Given the description of an element on the screen output the (x, y) to click on. 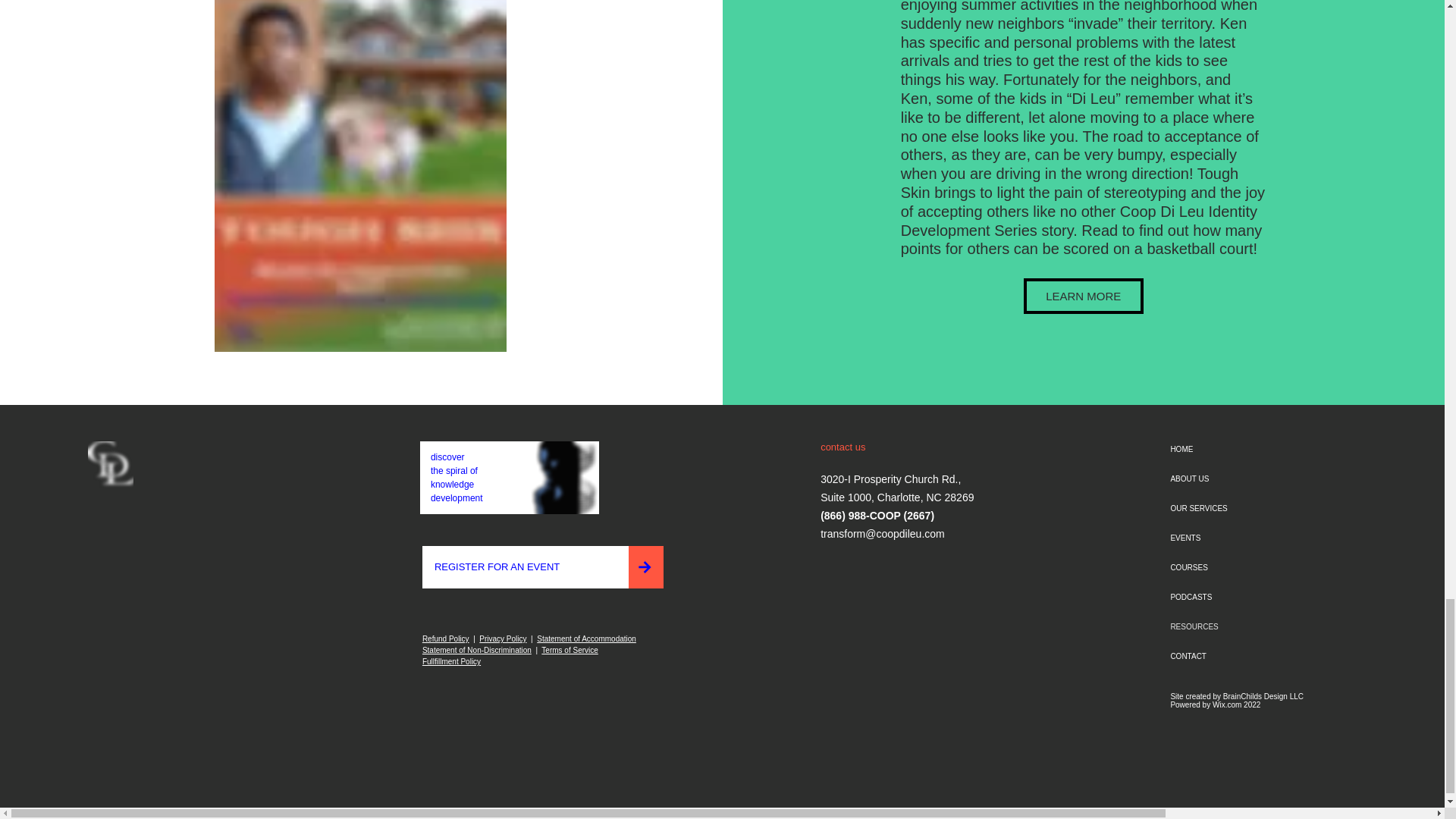
LEARN MORE (1082, 295)
